Given the description of an element on the screen output the (x, y) to click on. 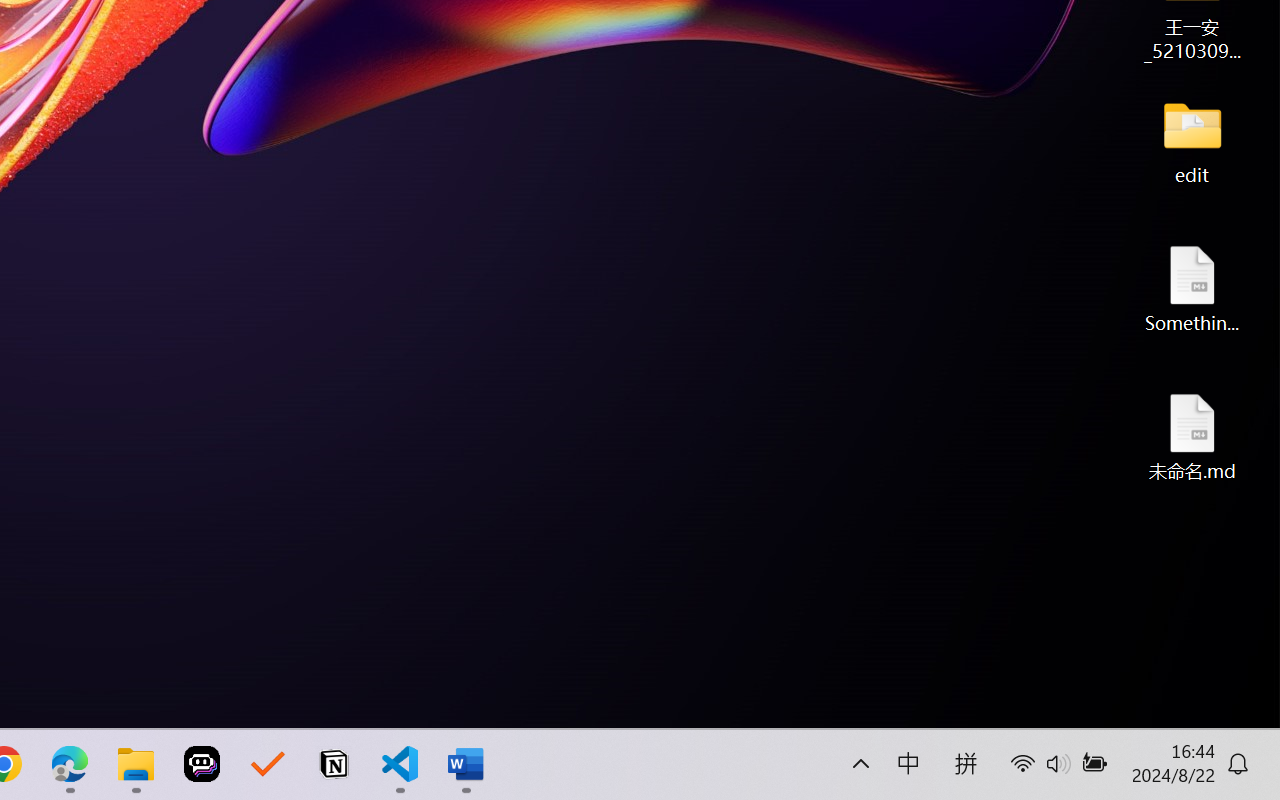
Something.md (1192, 288)
